Given the description of an element on the screen output the (x, y) to click on. 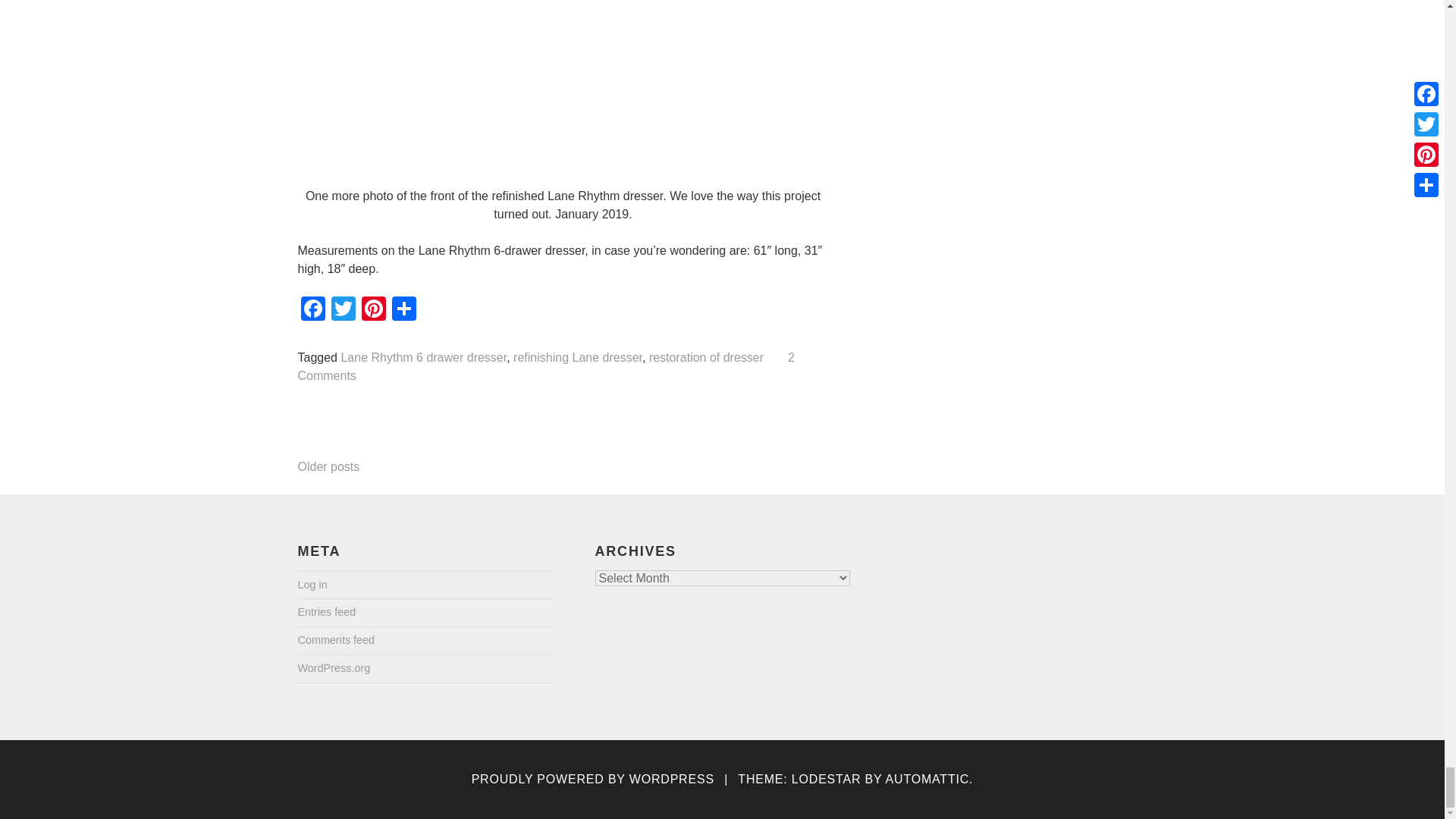
Twitter (342, 310)
Pinterest (373, 310)
Facebook (312, 310)
